Given the description of an element on the screen output the (x, y) to click on. 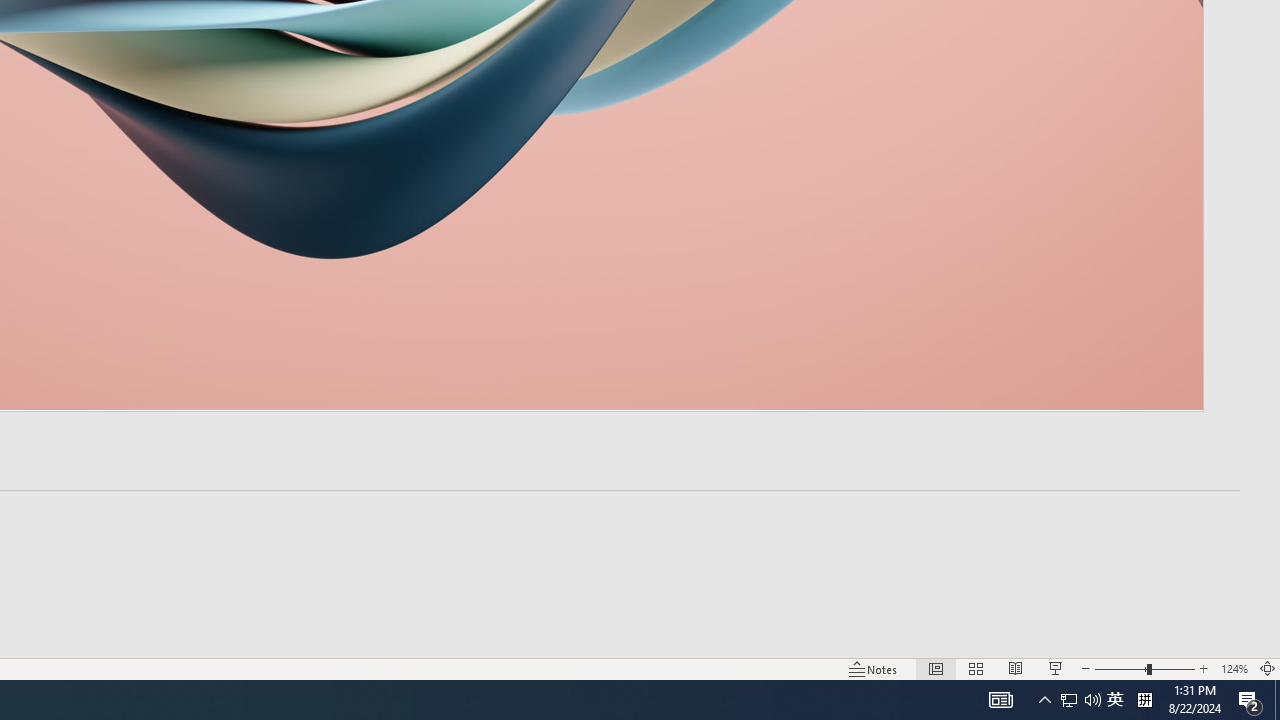
Zoom 124% (1234, 668)
